Given the description of an element on the screen output the (x, y) to click on. 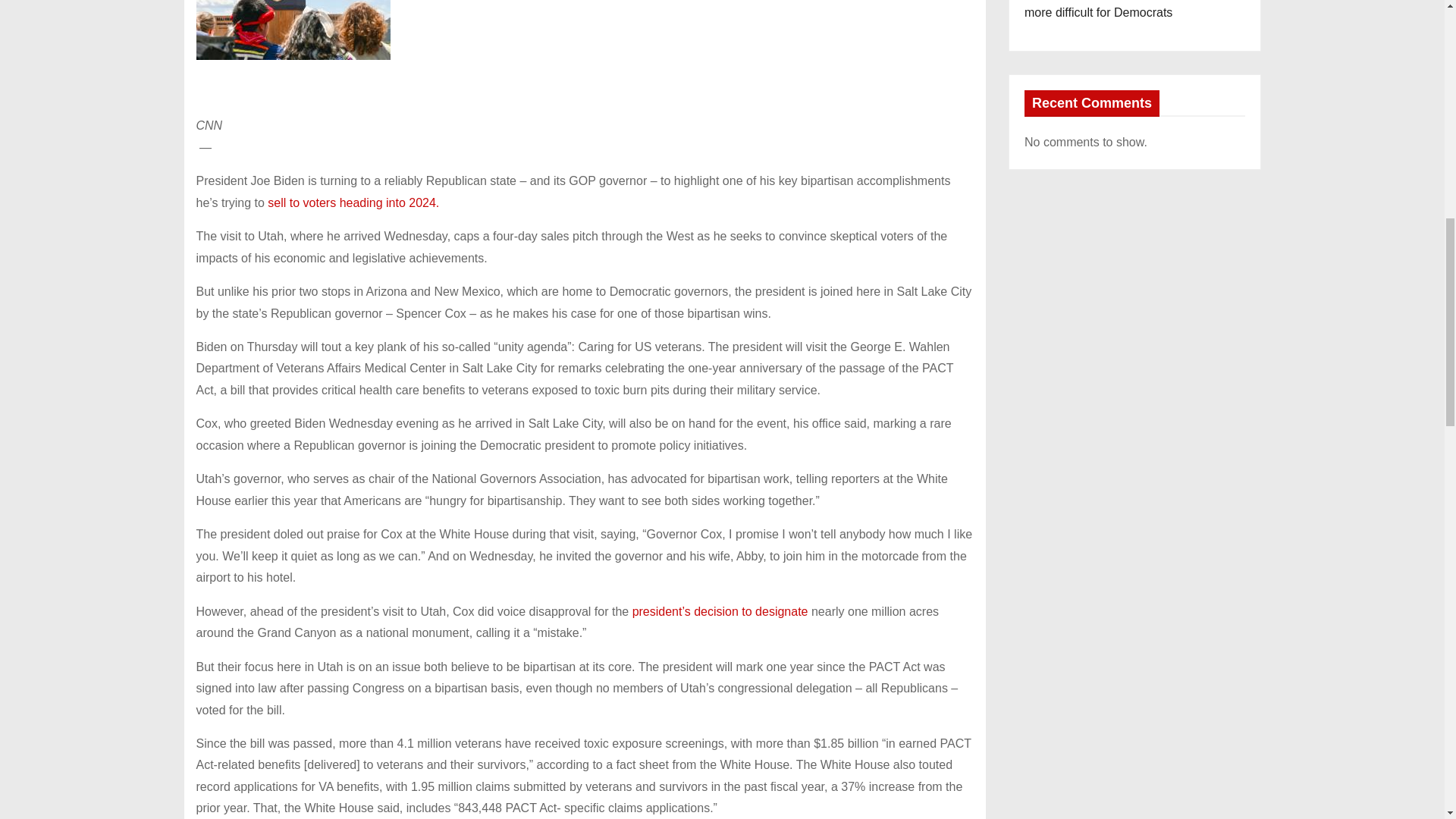
sell to voters heading into 2024. (351, 202)
